Given the description of an element on the screen output the (x, y) to click on. 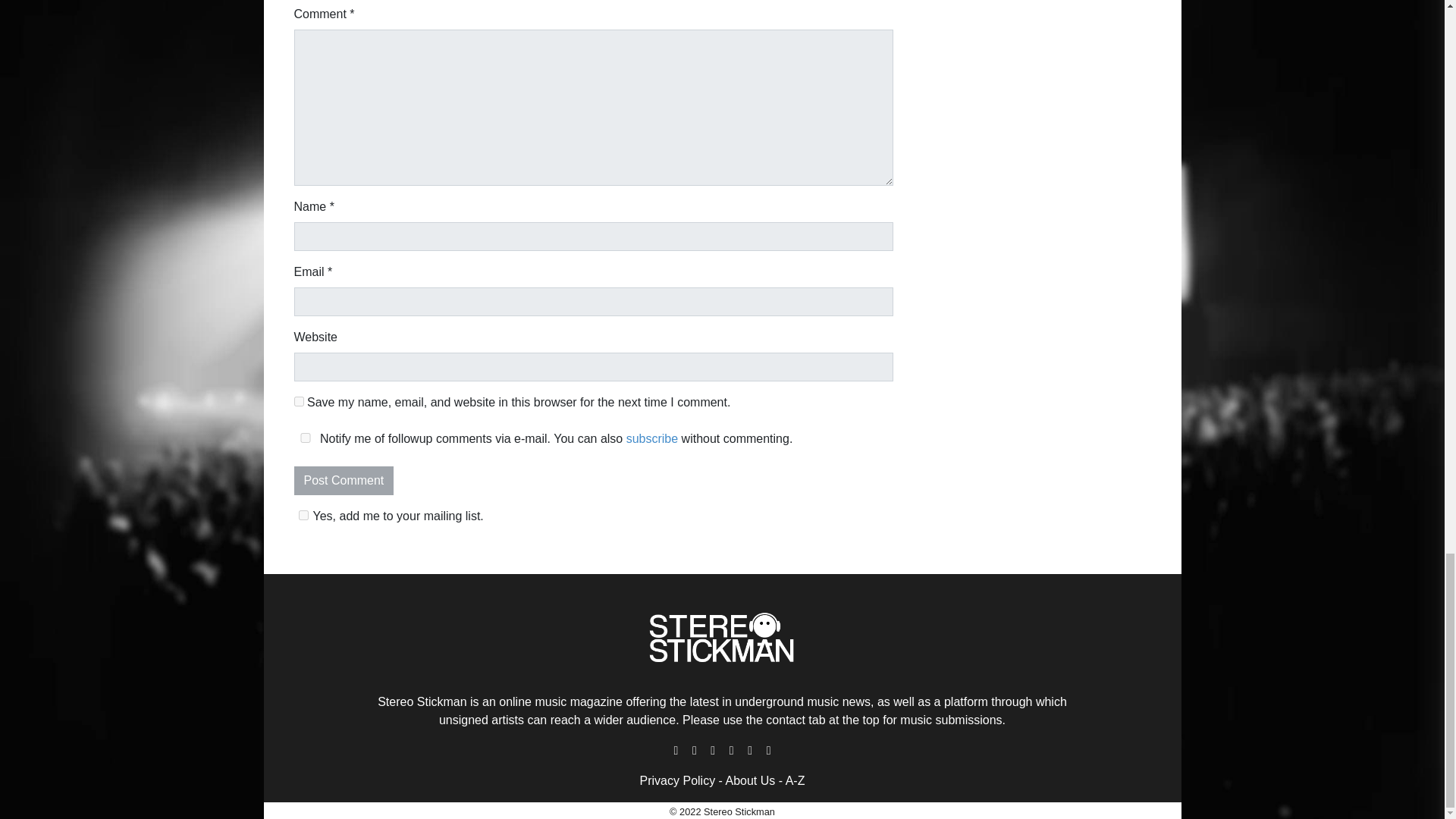
Post Comment (344, 480)
Post Comment (344, 480)
yes (305, 438)
1 (303, 515)
yes (299, 401)
subscribe (652, 438)
